Given the description of an element on the screen output the (x, y) to click on. 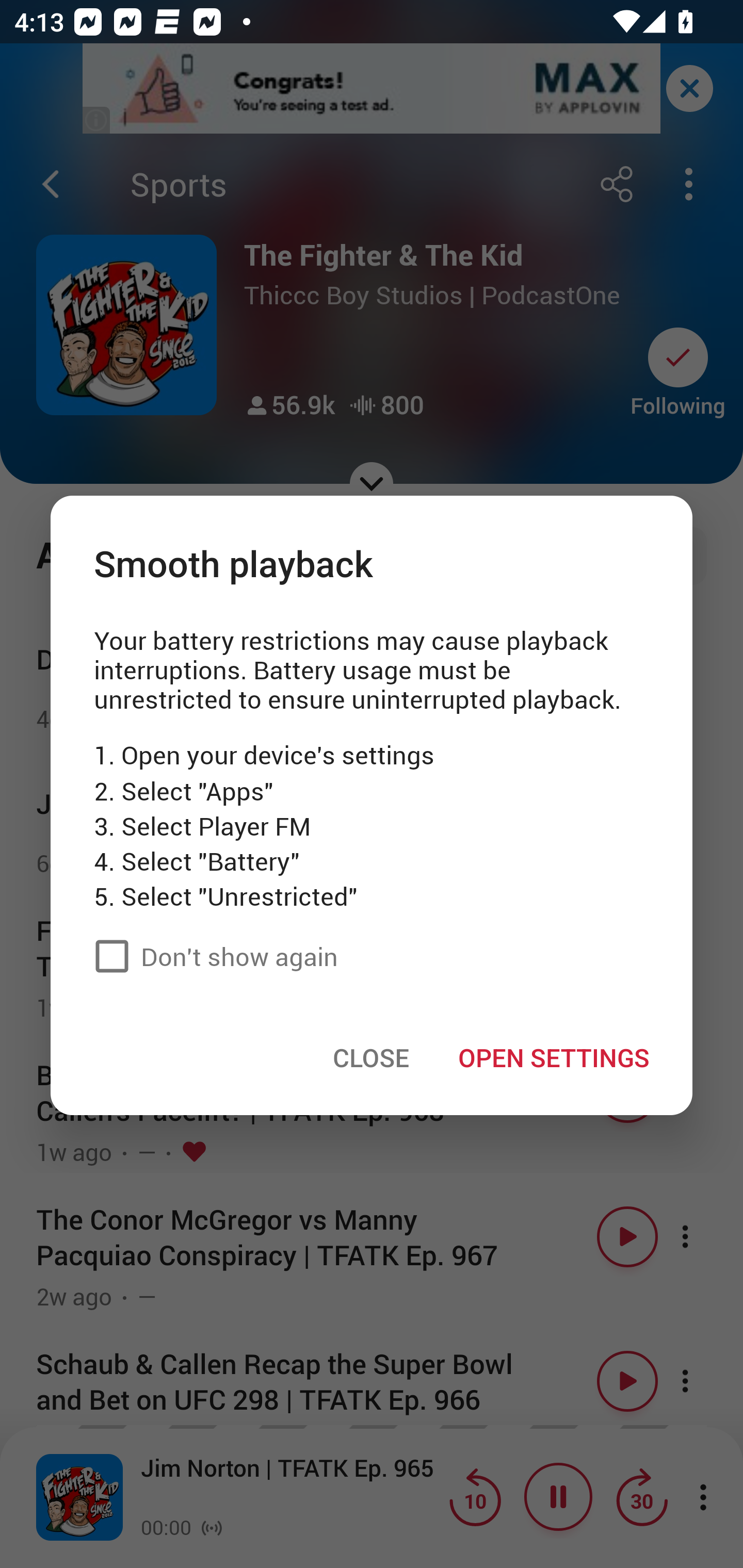
Don't show again (210, 955)
CLOSE (371, 1057)
OPEN SETTINGS (553, 1057)
